Given the description of an element on the screen output the (x, y) to click on. 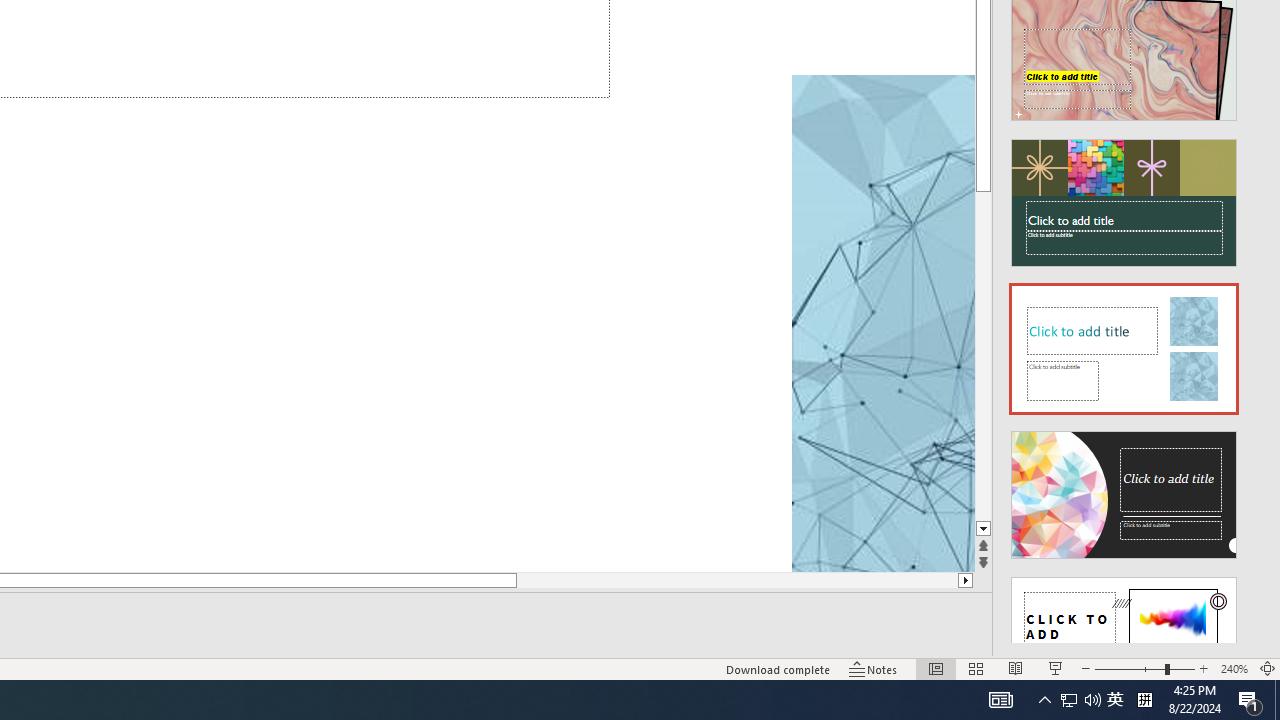
Download complete  (778, 668)
Zoom 240% (1234, 668)
